Given the description of an element on the screen output the (x, y) to click on. 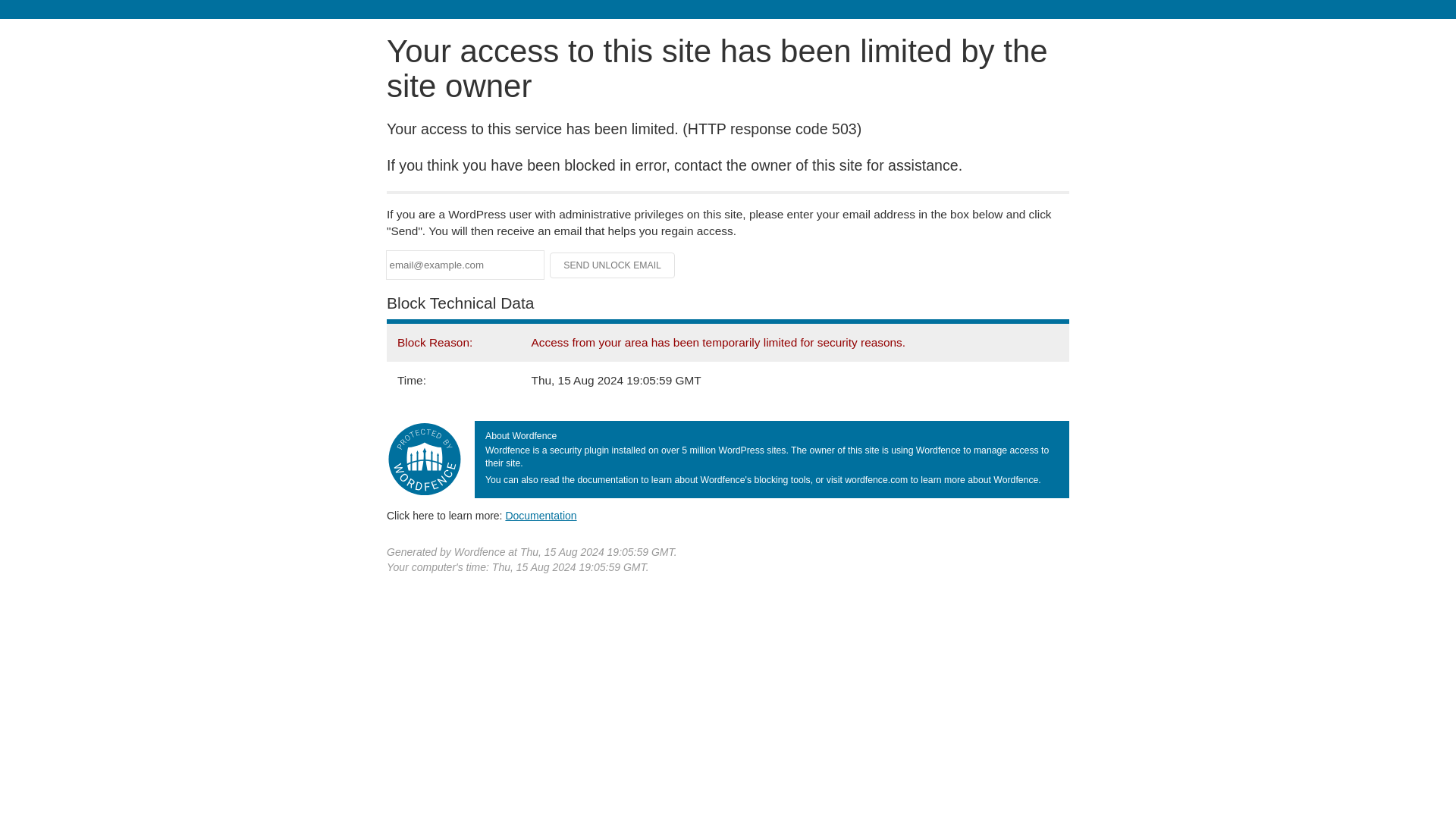
Documentation (540, 515)
Send Unlock Email (612, 265)
Send Unlock Email (612, 265)
